Given the description of an element on the screen output the (x, y) to click on. 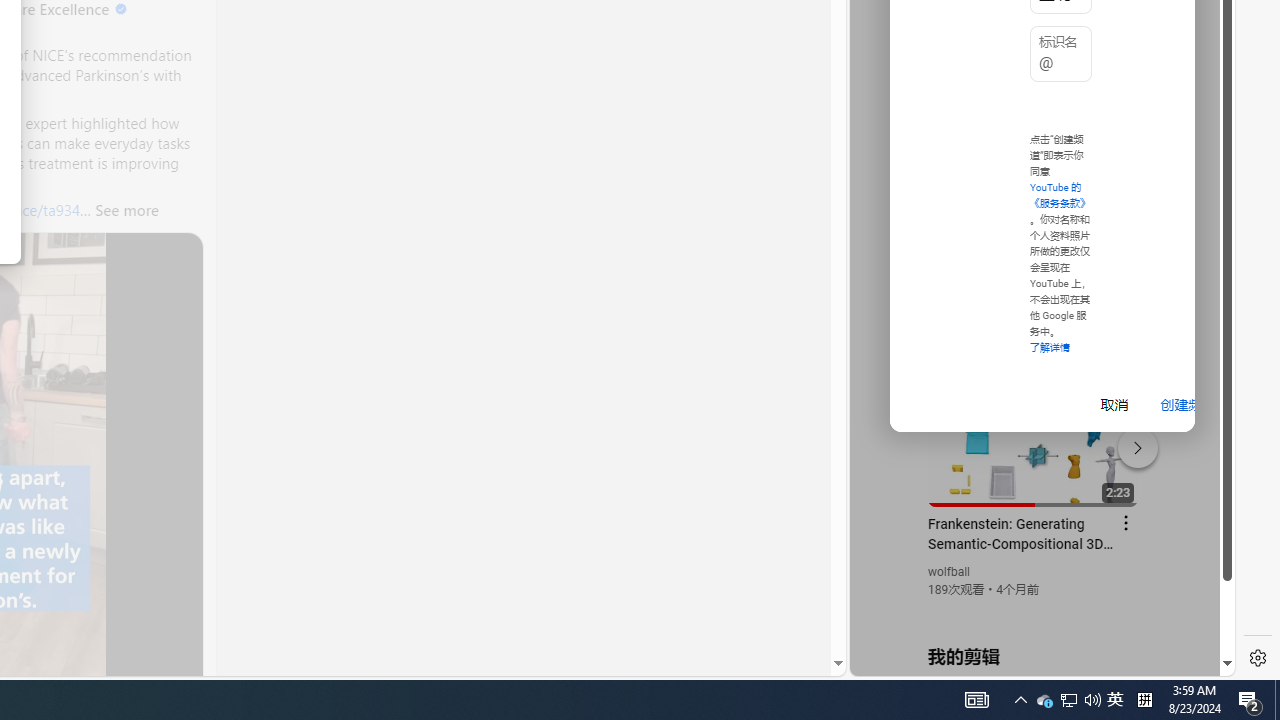
you (1034, 609)
US[ju] (917, 660)
